Given the description of an element on the screen output the (x, y) to click on. 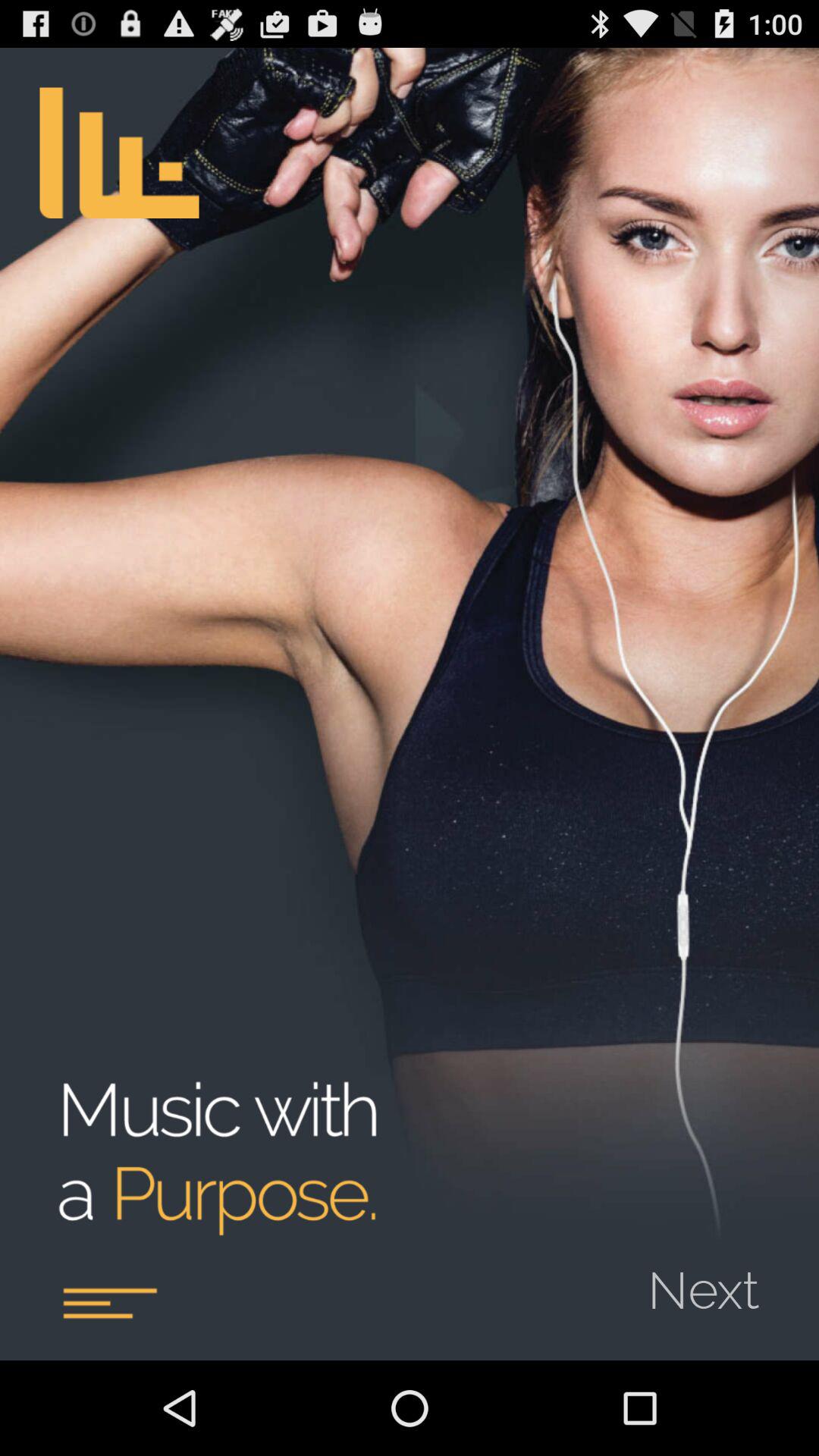
turn on the item at the bottom right corner (713, 1280)
